Given the description of an element on the screen output the (x, y) to click on. 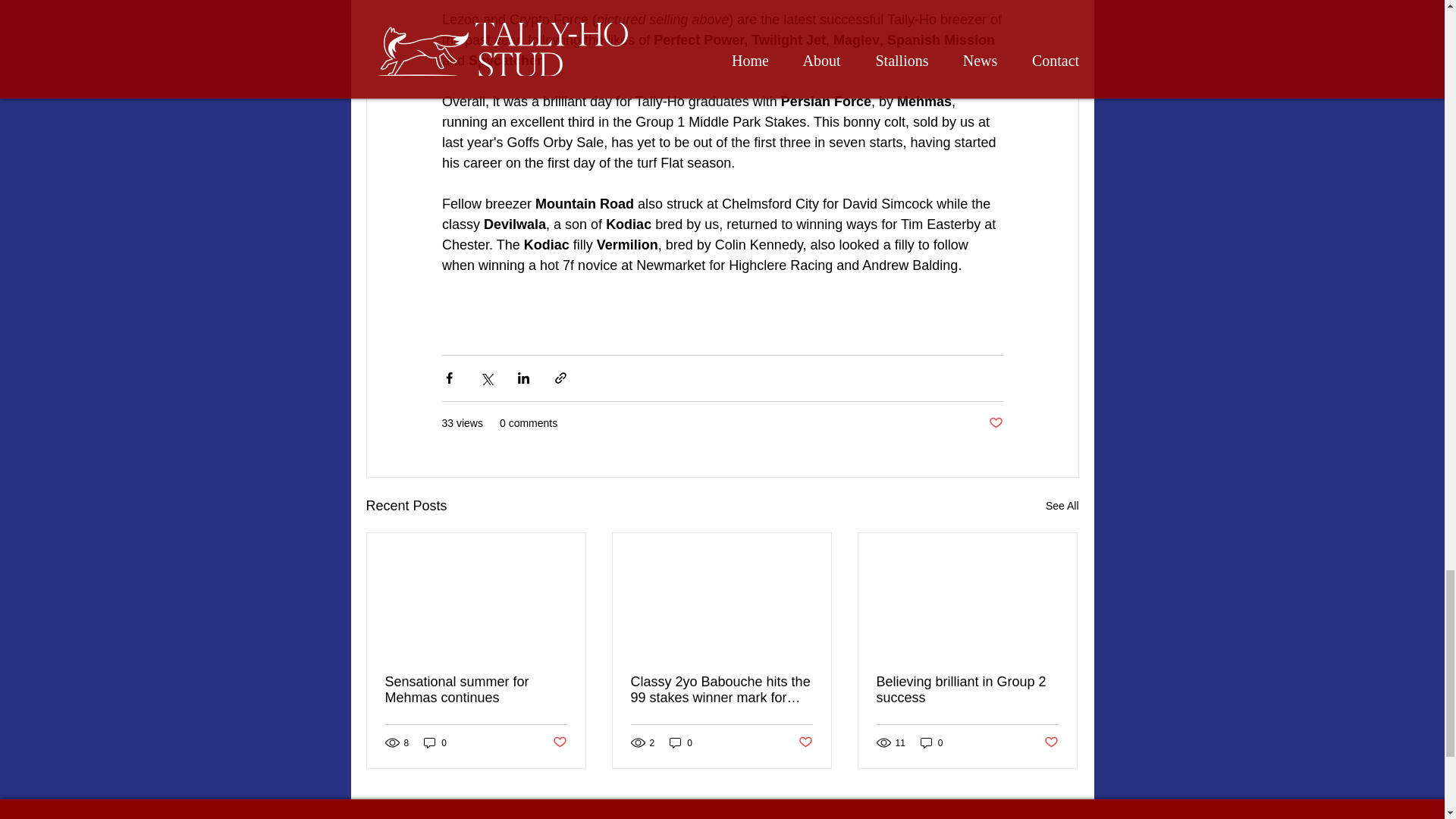
Post not marked as liked (558, 742)
Post not marked as liked (804, 742)
0 (681, 742)
Sensational summer for Mehmas continues (476, 689)
See All (1061, 505)
Post not marked as liked (1050, 742)
0 (435, 742)
0 (931, 742)
Post not marked as liked (995, 423)
Believing brilliant in Group 2 success (967, 689)
